Given the description of an element on the screen output the (x, y) to click on. 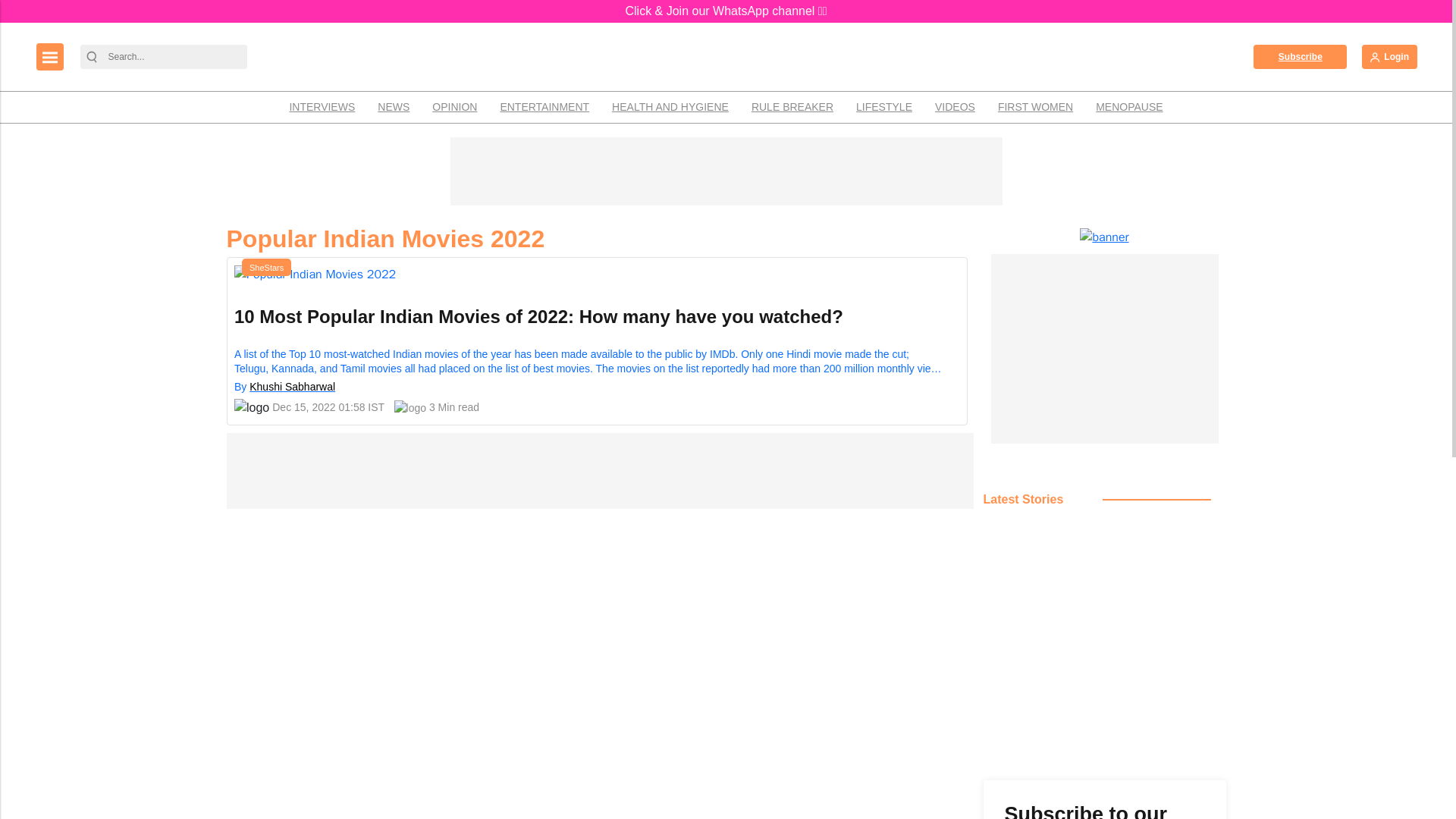
Subscribe (1299, 56)
FIRST WOMEN (1035, 106)
Khushi Sabharwal (291, 386)
VIDEOS (955, 106)
By (241, 386)
INTERVIEWS (322, 106)
HEALTH AND HYGIENE (669, 106)
LIFESTYLE (883, 106)
NEWS (393, 106)
